Given the description of an element on the screen output the (x, y) to click on. 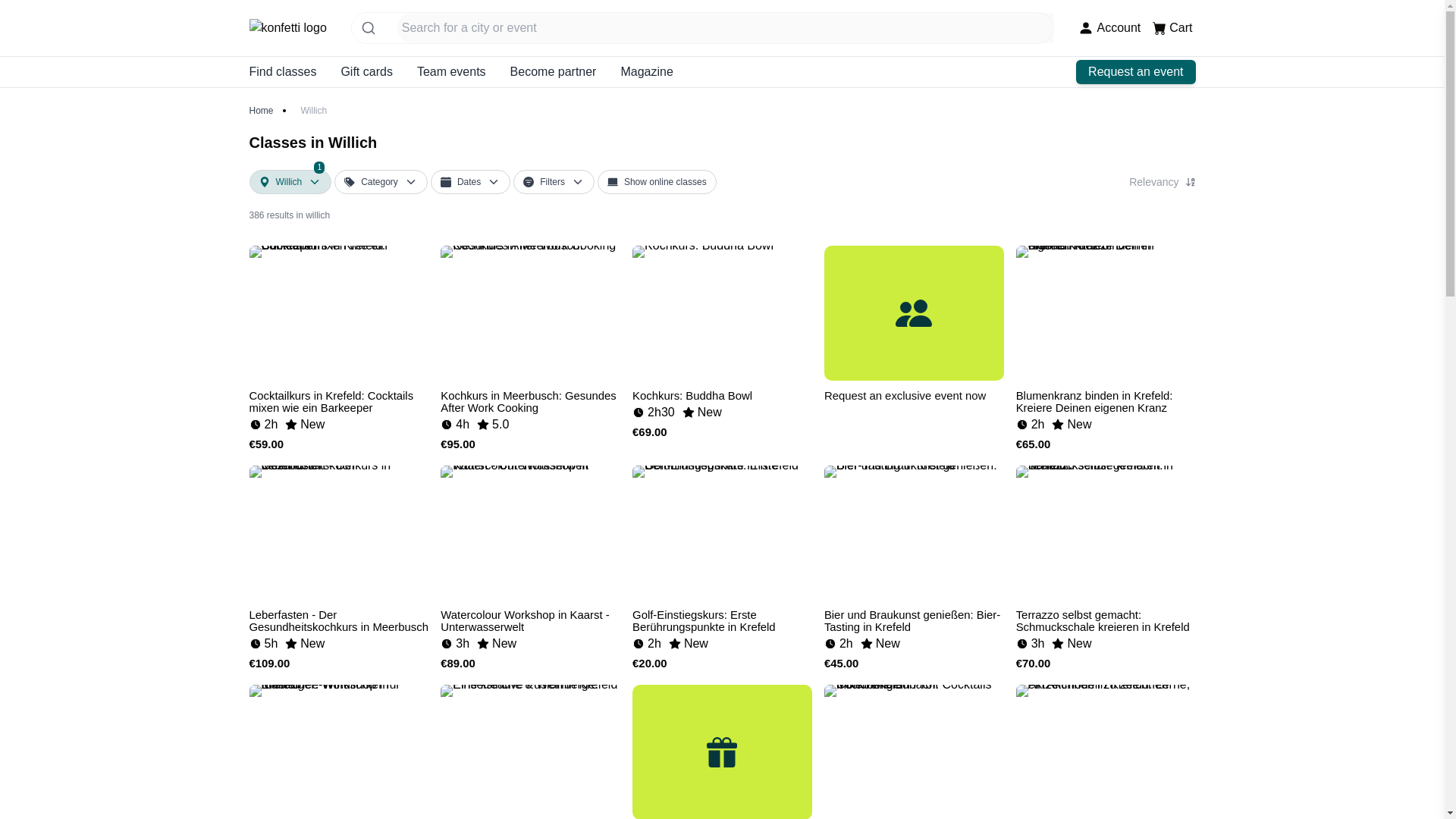
Gift cards (659, 182)
Request an event (365, 71)
Become partner (1135, 71)
Blumenkranz binden in Krefeld: Kreiere Deinen eigenen Kranz (553, 71)
Leberfasten - Der Gesundheitskochkurs in Meerbusch (1105, 397)
Magazine (338, 616)
Kochkurs in Meerbusch: Gesundes After Work Cooking (659, 182)
Kochkurs: Buddha Bowl (646, 71)
Watercolour Workshop in Kaarst - Unterwasserwelt (530, 397)
Find classes (721, 391)
Home (530, 616)
Account (281, 71)
Team events (260, 110)
